Given the description of an element on the screen output the (x, y) to click on. 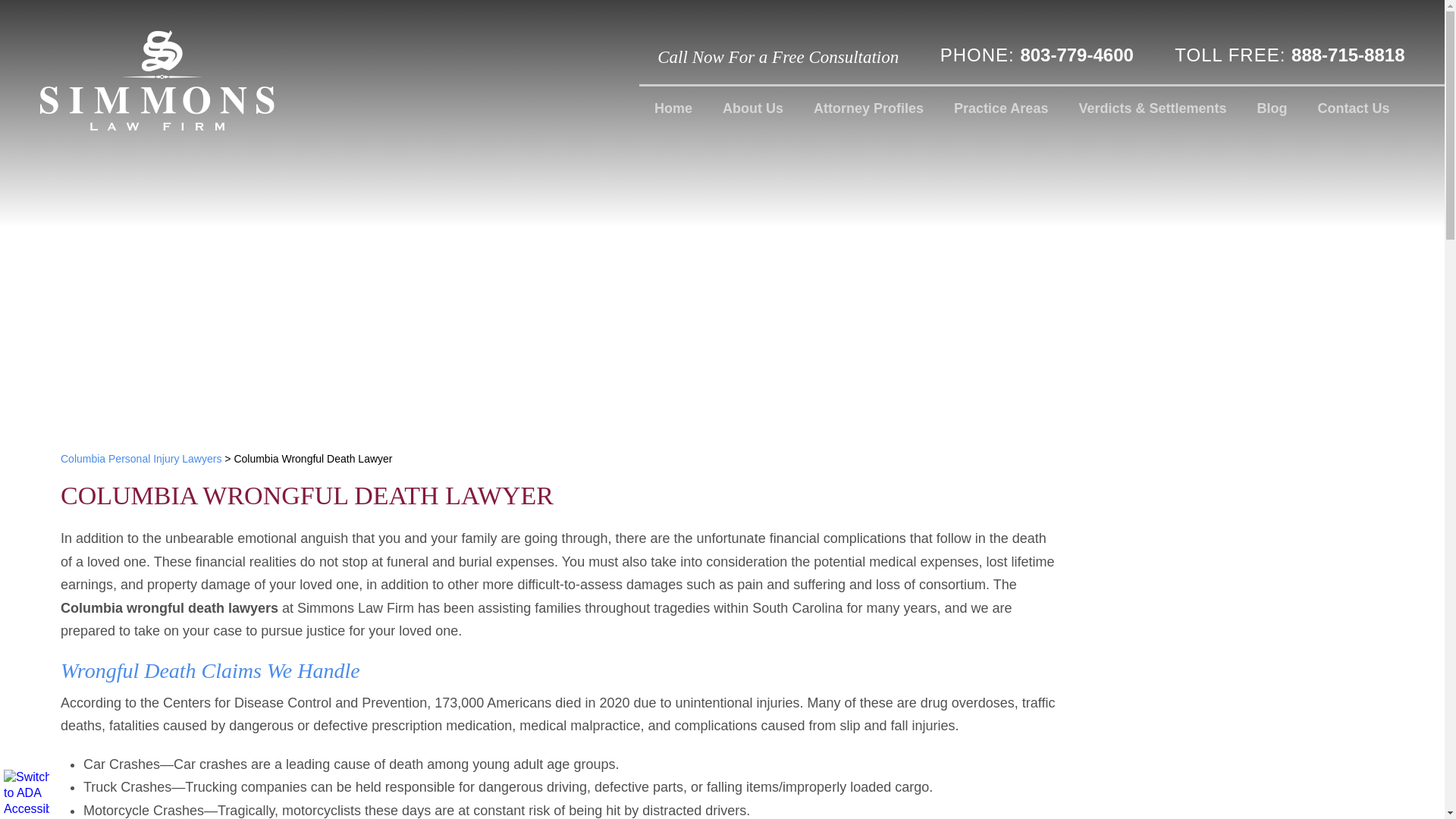
803-779-4600 (1076, 55)
About Us (752, 108)
888-715-8818 (1348, 55)
Attorney Profiles (868, 108)
Switch to ADA Accessible Theme (26, 791)
Home (673, 108)
Practice Areas (1000, 108)
